Given the description of an element on the screen output the (x, y) to click on. 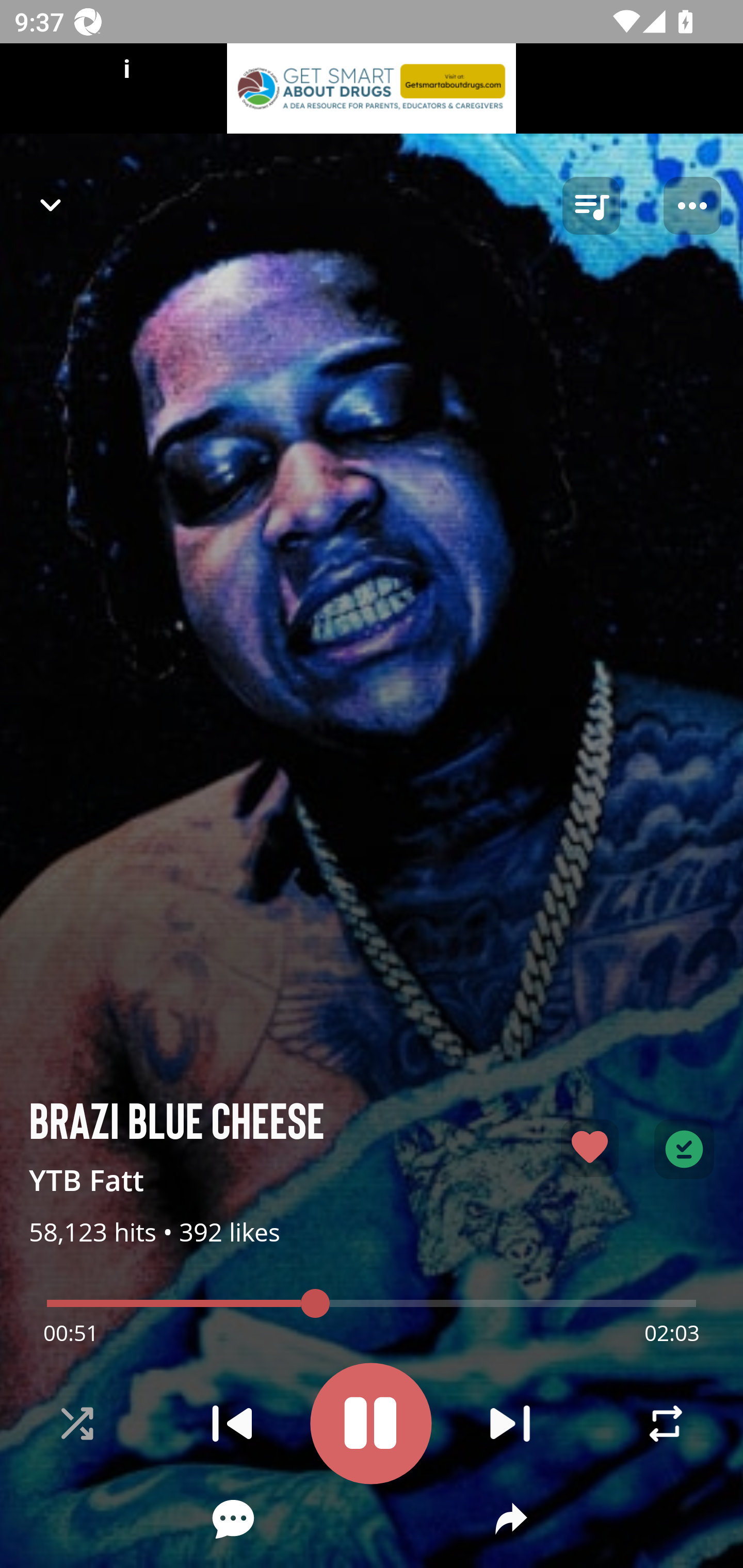
Navigate up (50, 205)
queue (590, 206)
Player options (692, 206)
